Given the description of an element on the screen output the (x, y) to click on. 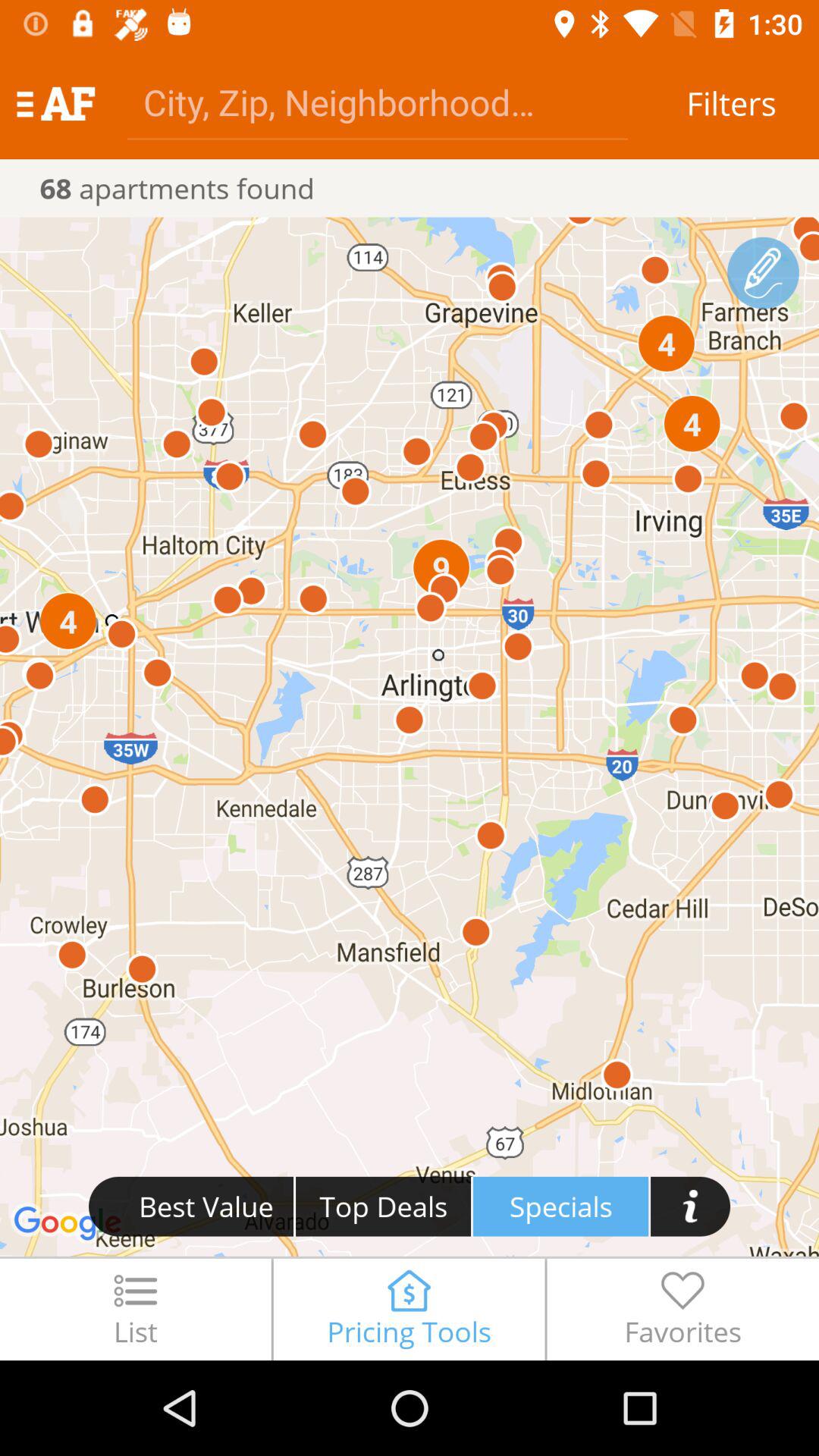
scroll to list icon (135, 1309)
